Given the description of an element on the screen output the (x, y) to click on. 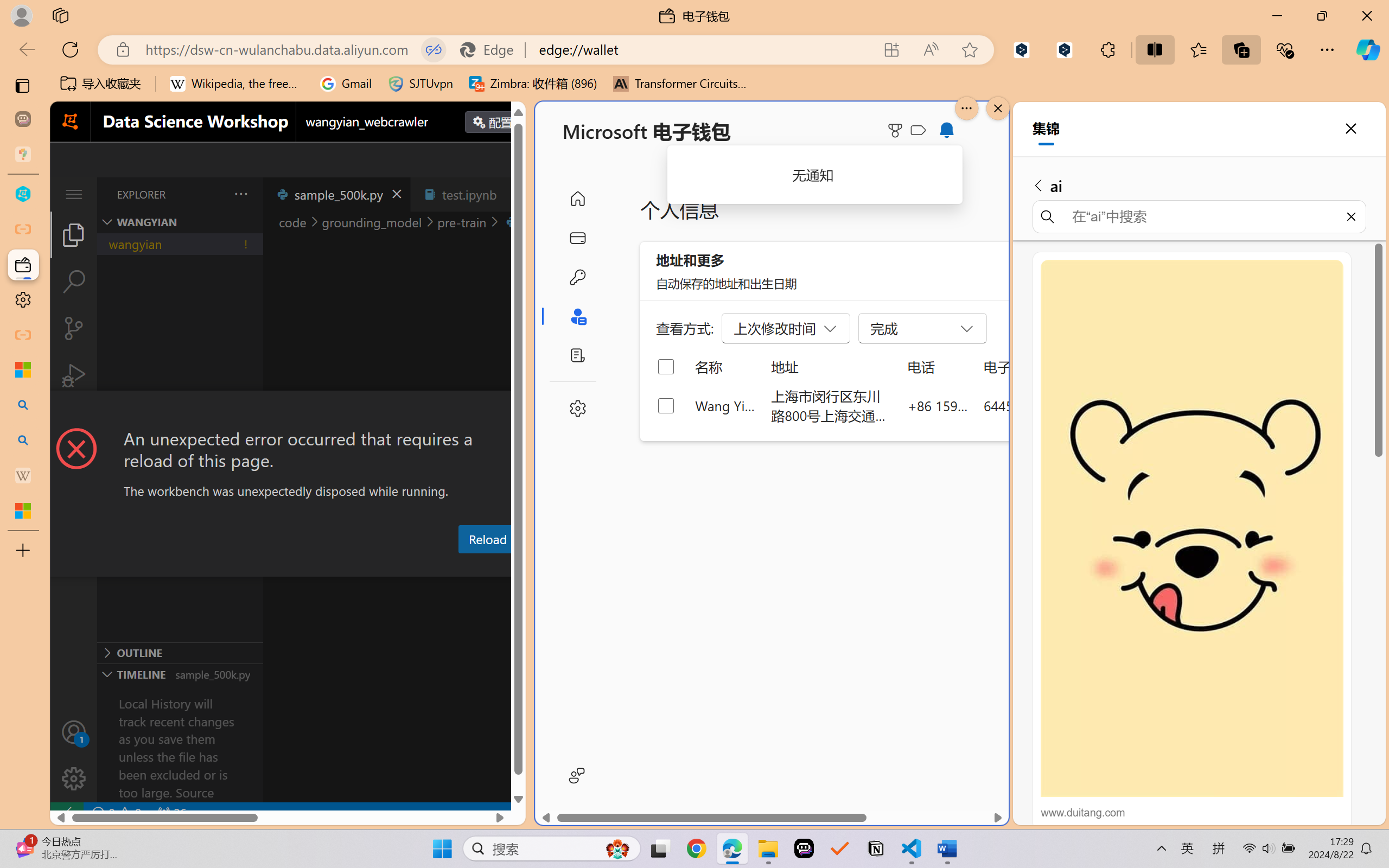
Edge (492, 49)
Run and Debug (Ctrl+Shift+D) (73, 375)
Explorer actions (212, 194)
Wikipedia, the free encyclopedia (236, 83)
Gmail (345, 83)
Output (Ctrl+Shift+U) (377, 565)
